Given the description of an element on the screen output the (x, y) to click on. 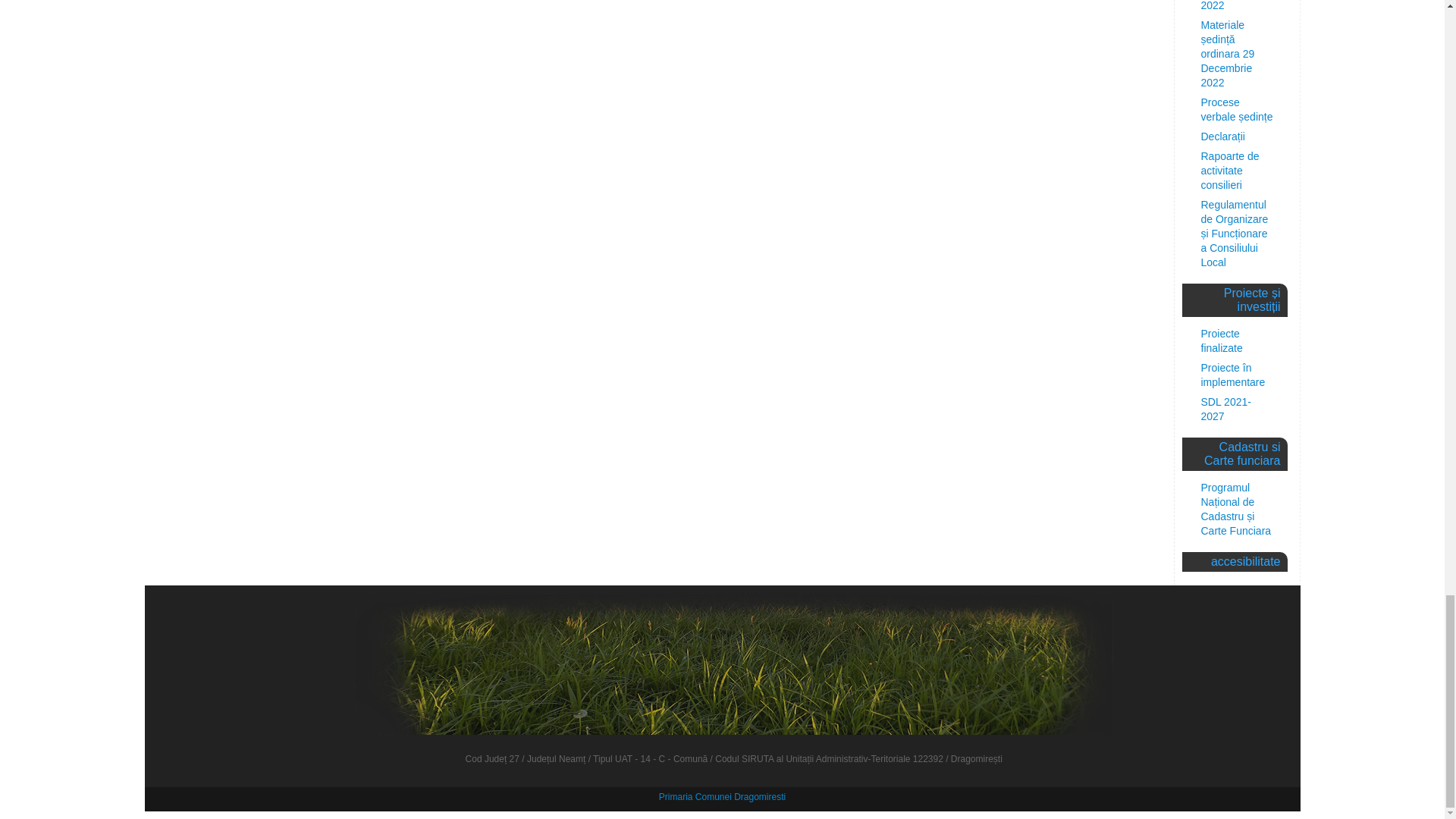
Primaria Comunei Dragomiresti (722, 796)
